Given the description of an element on the screen output the (x, y) to click on. 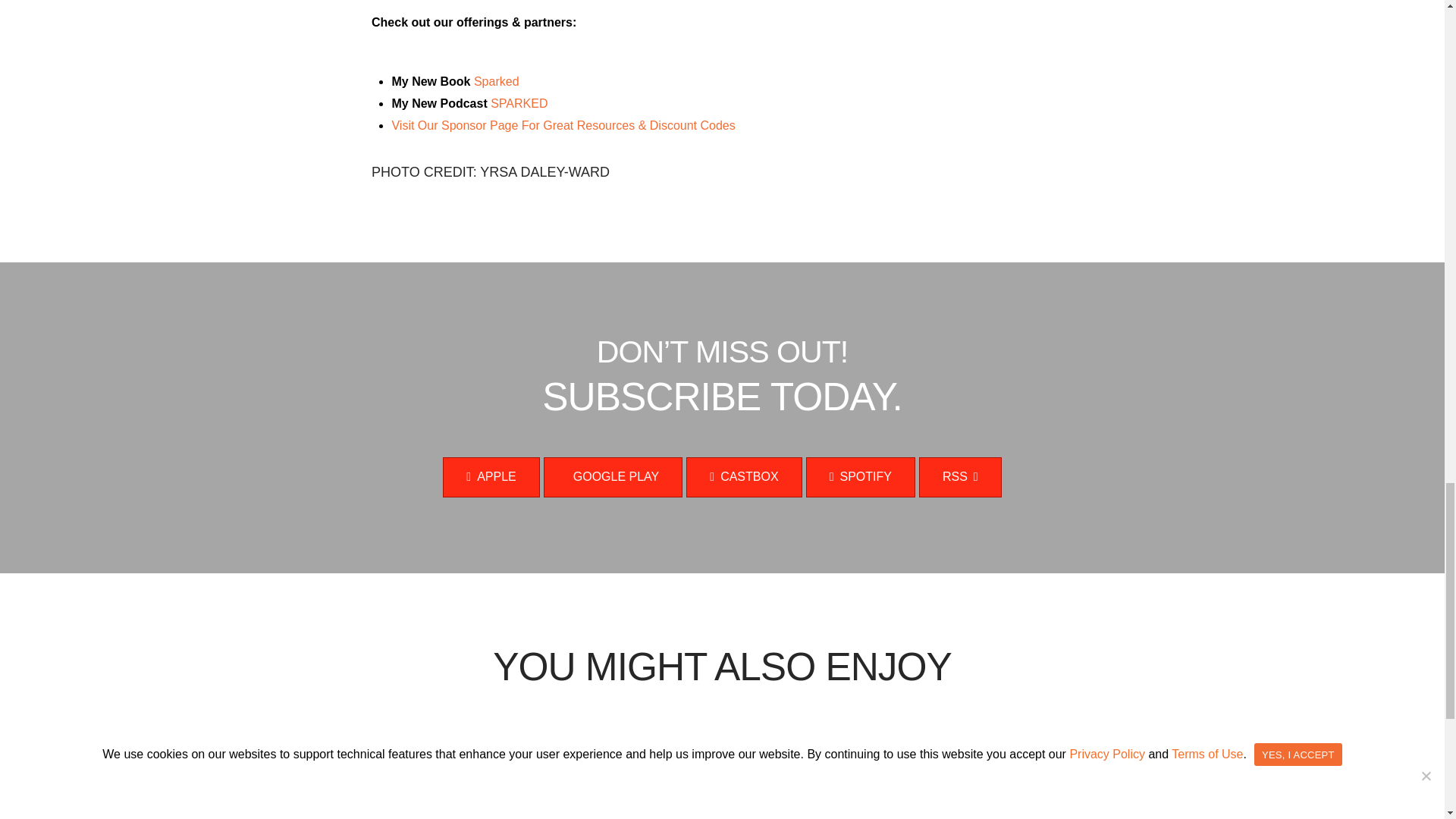
CASTBOX (743, 477)
Sparked (496, 81)
APPLE (490, 477)
RSS (959, 477)
SPARKED (518, 103)
SPOTIFY (860, 477)
GOOGLE PLAY (612, 477)
